Given the description of an element on the screen output the (x, y) to click on. 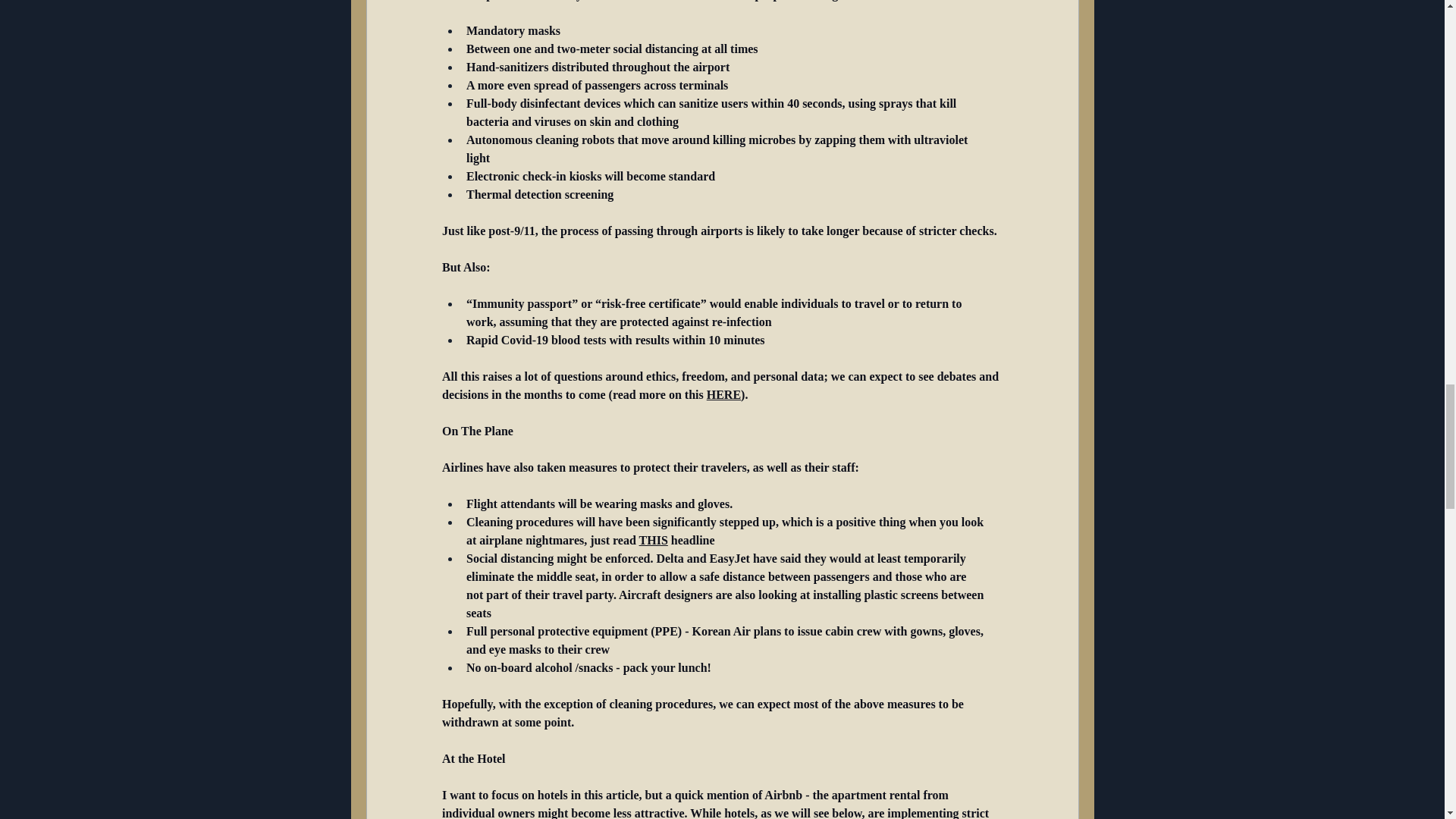
THIS (652, 540)
HERE (722, 394)
